Given the description of an element on the screen output the (x, y) to click on. 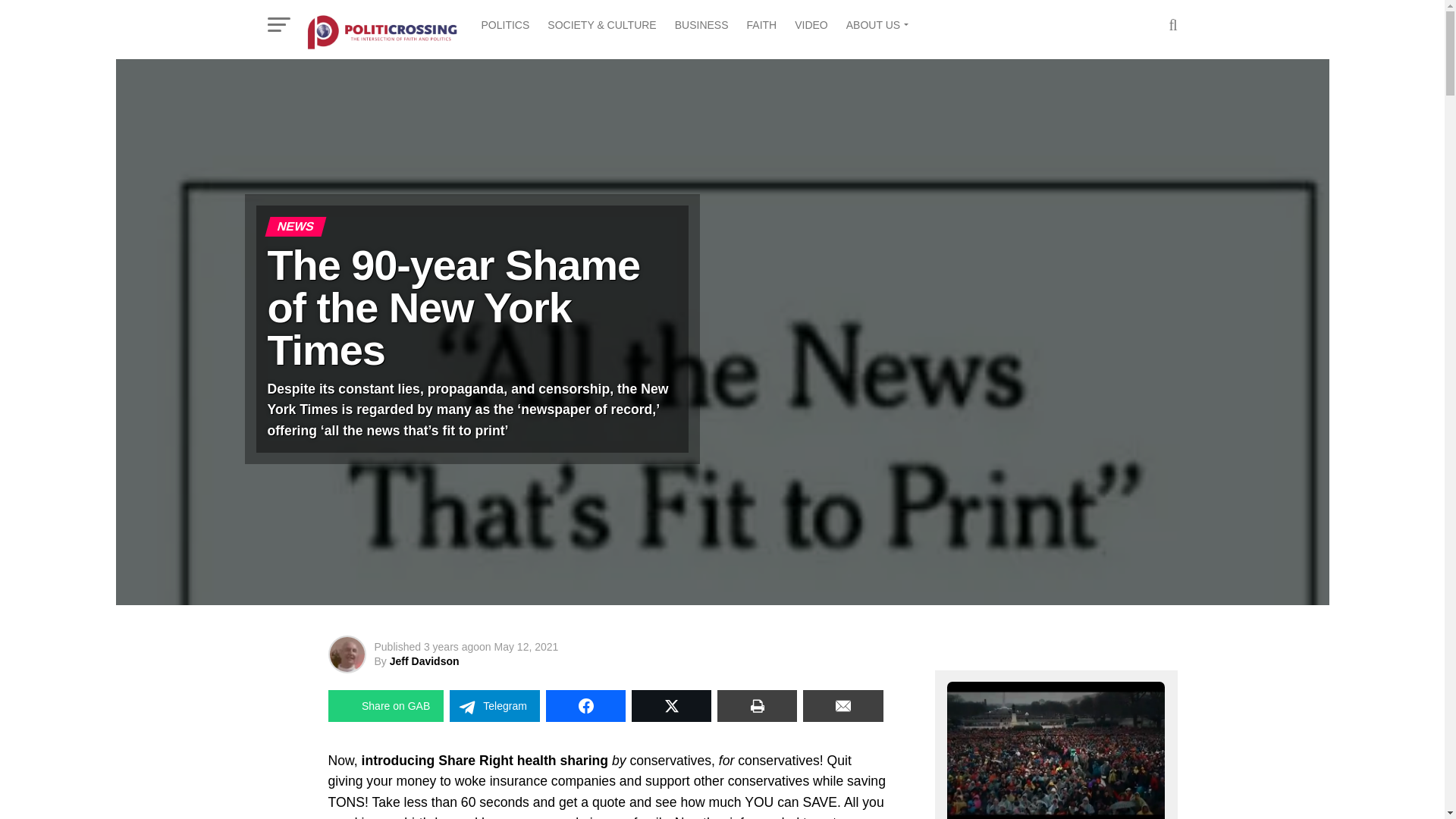
BUSINESS (701, 24)
Posts by Jeff Davidson (425, 661)
Jeff Davidson (425, 661)
POLITICS (504, 24)
Telegram (494, 705)
Share on Share on GAB (384, 705)
Share on GAB (384, 705)
Share on Telegram (494, 705)
VIDEO (811, 24)
ABOUT US (874, 24)
FAITH (762, 24)
